Given the description of an element on the screen output the (x, y) to click on. 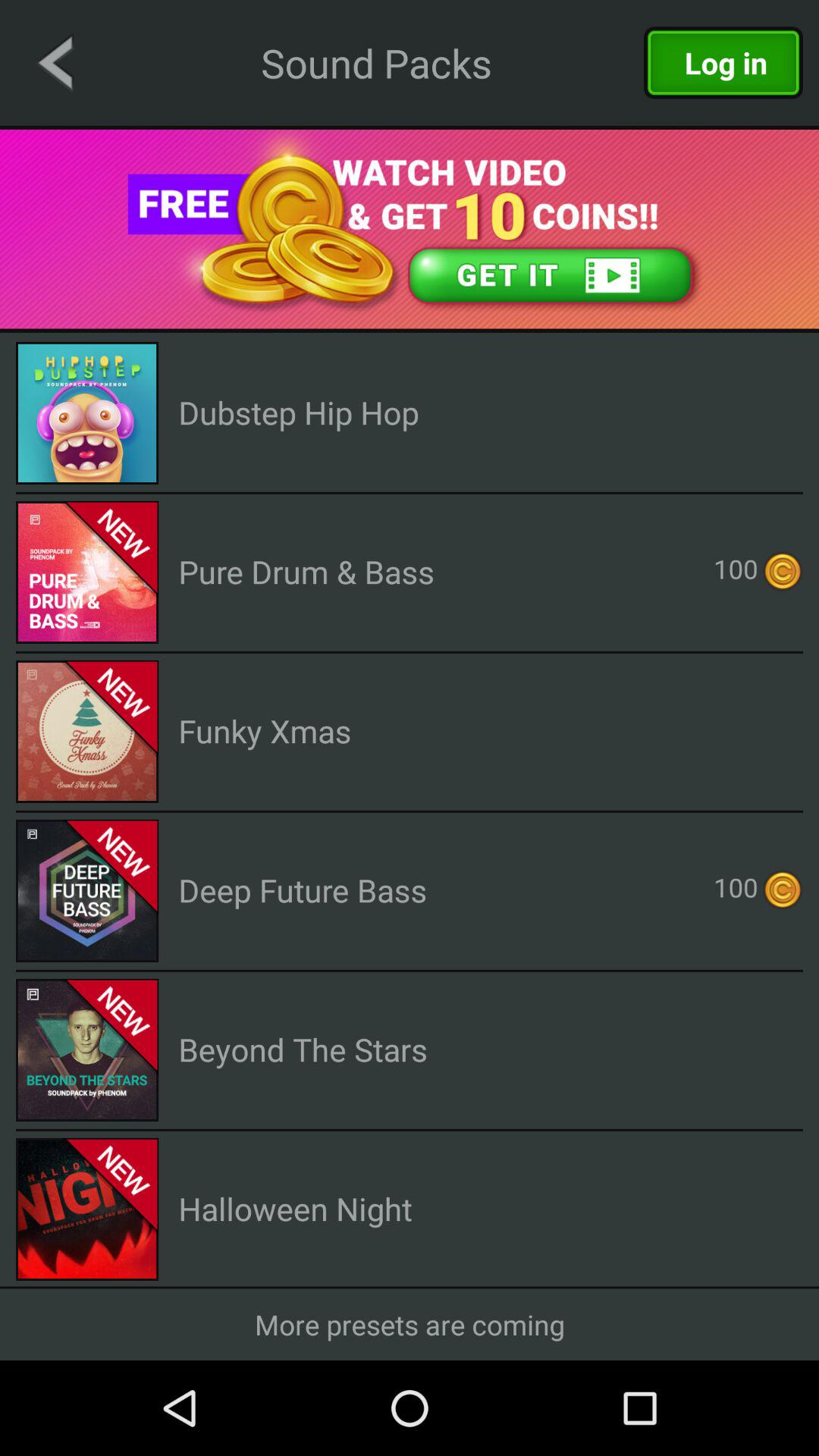
launch the icon to the left of 100 app (306, 571)
